Given the description of an element on the screen output the (x, y) to click on. 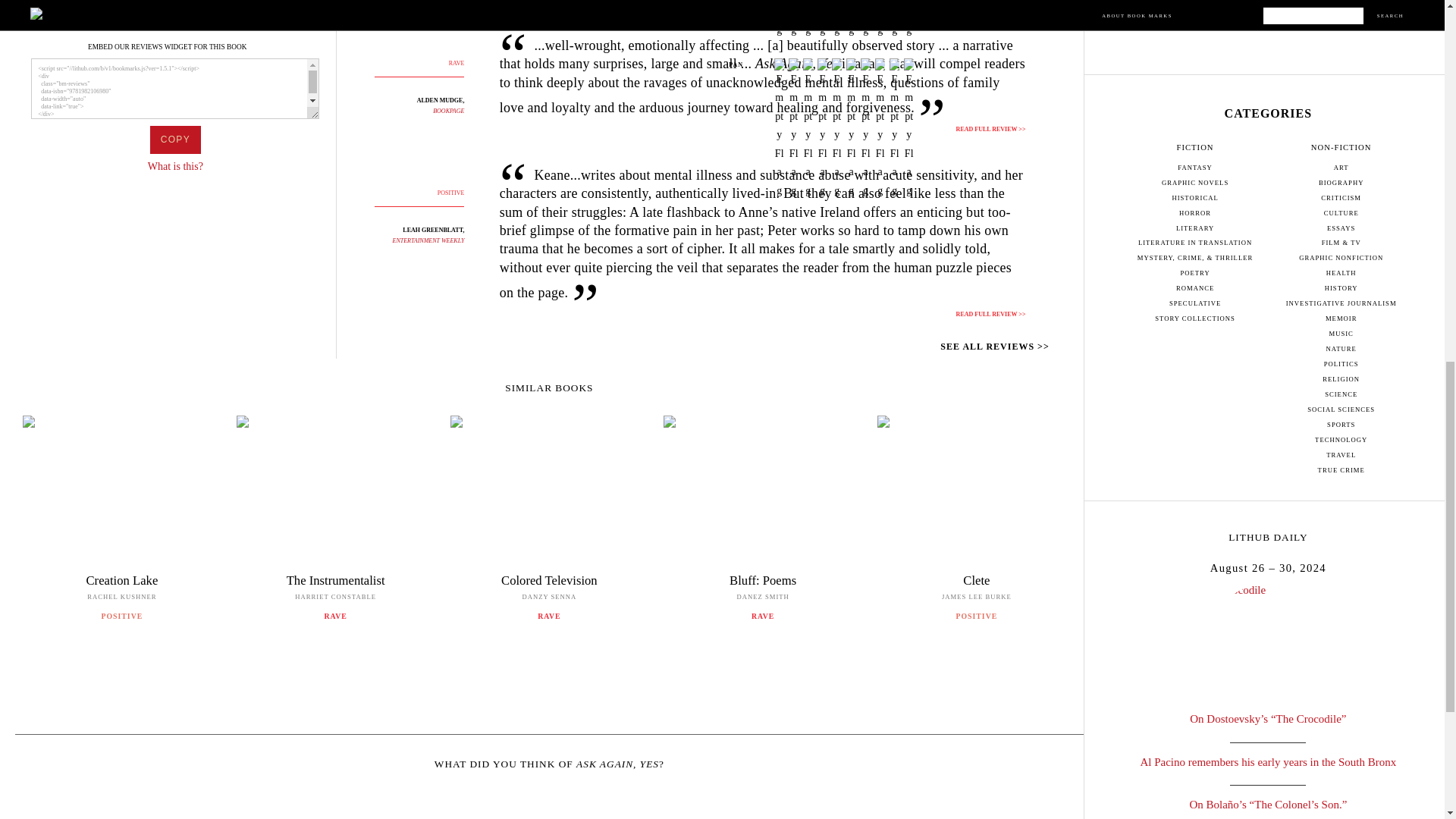
LEAH GREENBLATT, (433, 229)
ALDEN MUDGE, (440, 100)
Copy (122, 524)
BOOKPAGE (174, 139)
What is this? (448, 110)
Sign up (175, 165)
ENTERTAINMENT WEEKLY (1267, 4)
